Given the description of an element on the screen output the (x, y) to click on. 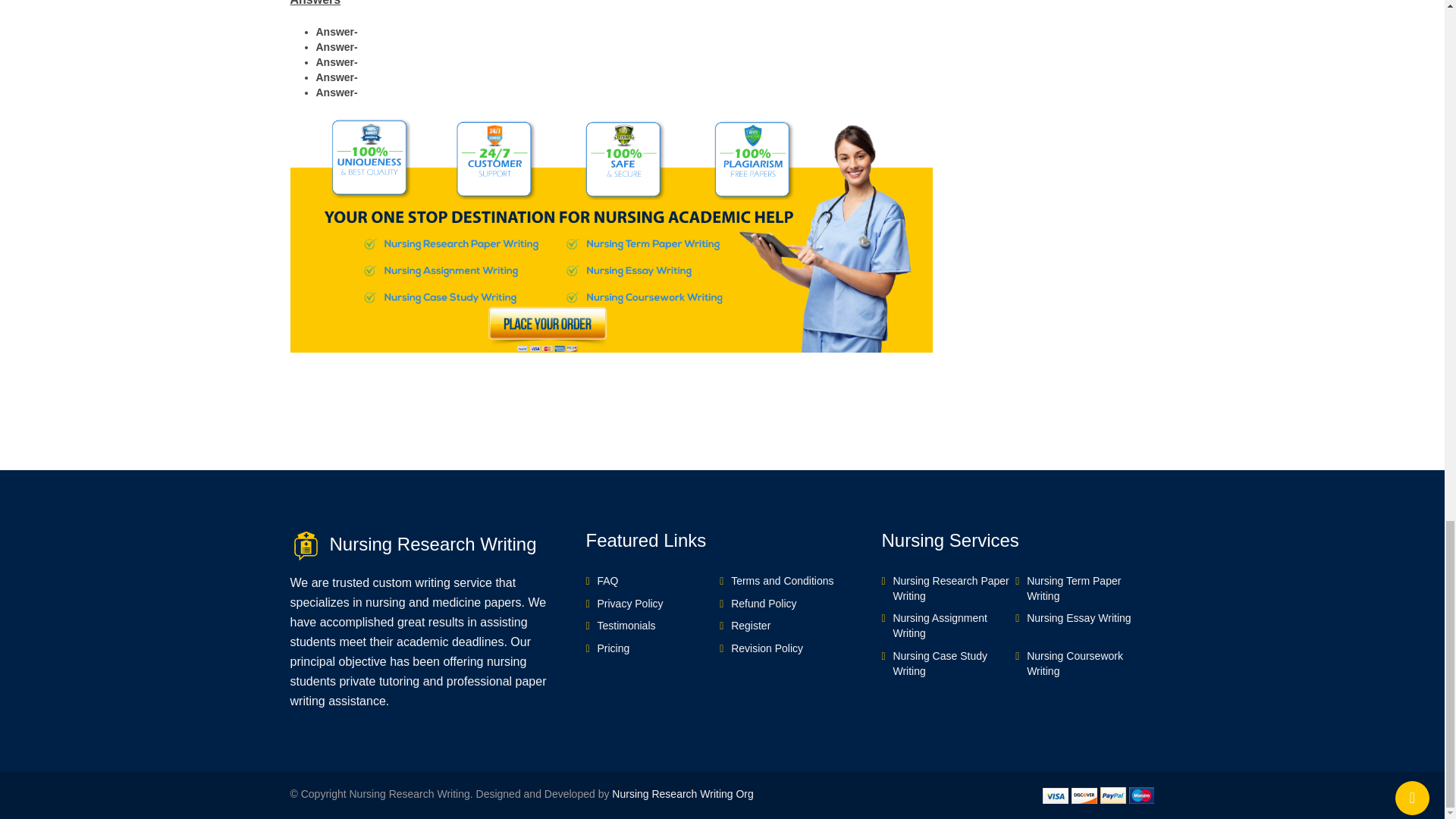
Register (750, 625)
Nursing Case Study Writing (939, 663)
Revision Policy (766, 648)
Nursing Research Paper Writing (950, 587)
Nursing Coursework Writing (1074, 663)
Pricing (612, 648)
Testimonials (625, 625)
Refund Policy (763, 603)
Nursing Term Paper Writing (1073, 587)
Privacy Policy (629, 603)
Nursing Assignment Writing (939, 625)
Nursing Research Writing Org (681, 793)
Nursing Essay Writing (1078, 617)
FAQ (606, 580)
Terms and Conditions (781, 580)
